Given the description of an element on the screen output the (x, y) to click on. 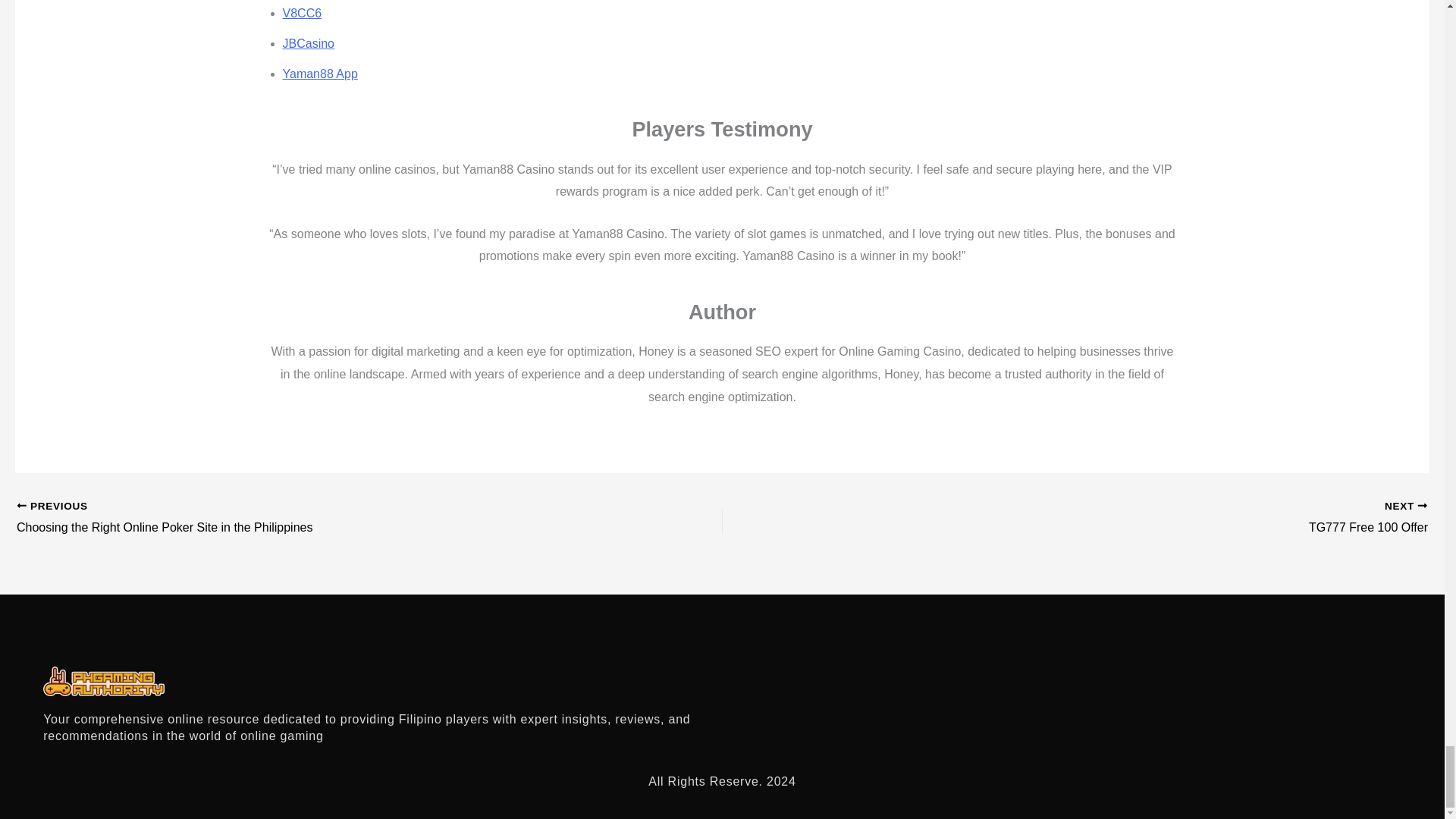
TG777 Free 100 Offer (1251, 518)
Choosing the Right Online Poker Site in the Philippines (299, 518)
